Given the description of an element on the screen output the (x, y) to click on. 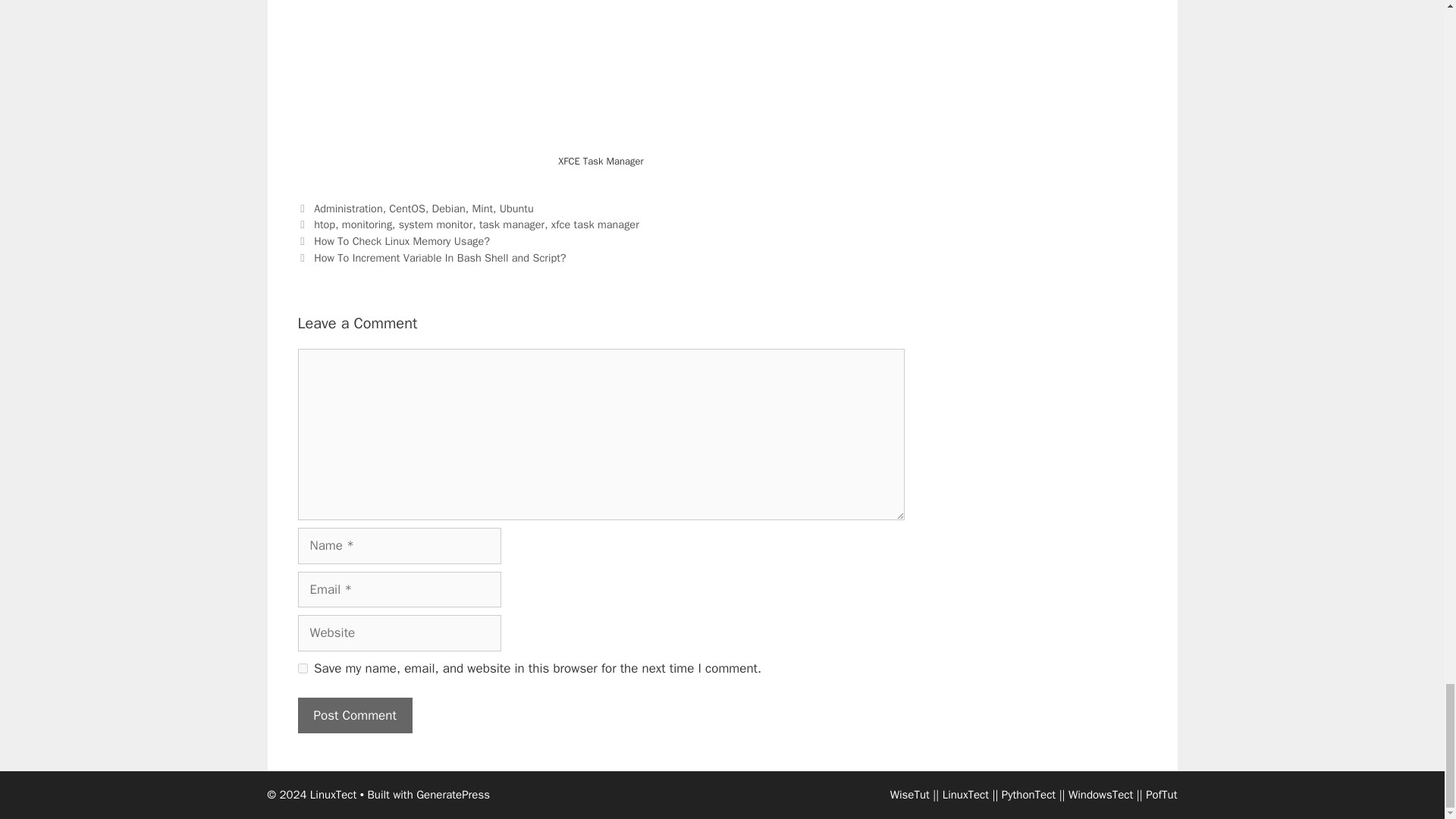
Debian (448, 208)
xfce task manager (595, 223)
GeneratePress (452, 794)
How To Check Linux Memory Usage? (401, 241)
Mint (482, 208)
Ubuntu (516, 208)
Post Comment (354, 715)
htop (324, 223)
WiseTut (909, 794)
task manager (511, 223)
Post Comment (354, 715)
LinuxTect (965, 794)
CentOS (406, 208)
PofTut (1160, 794)
yes (302, 668)
